Given the description of an element on the screen output the (x, y) to click on. 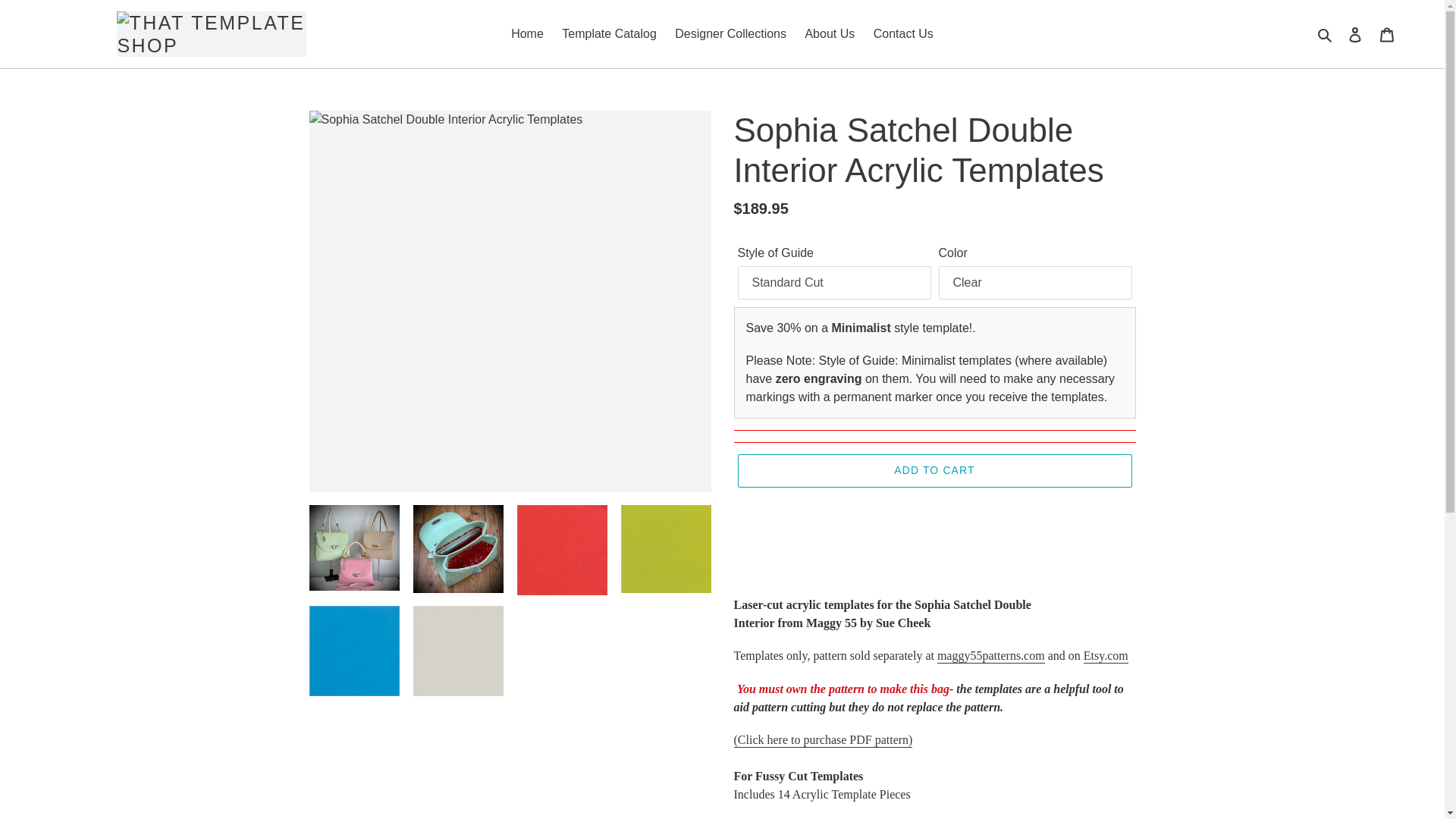
Designer Collections (729, 33)
Minimalist (860, 327)
maggy55patterns.com (991, 656)
ADD TO CART (933, 470)
Cart (1387, 33)
Log in (1355, 33)
Etsy.com (1105, 656)
Home (527, 33)
About Us (828, 33)
Contact Us (903, 33)
